Given the description of an element on the screen output the (x, y) to click on. 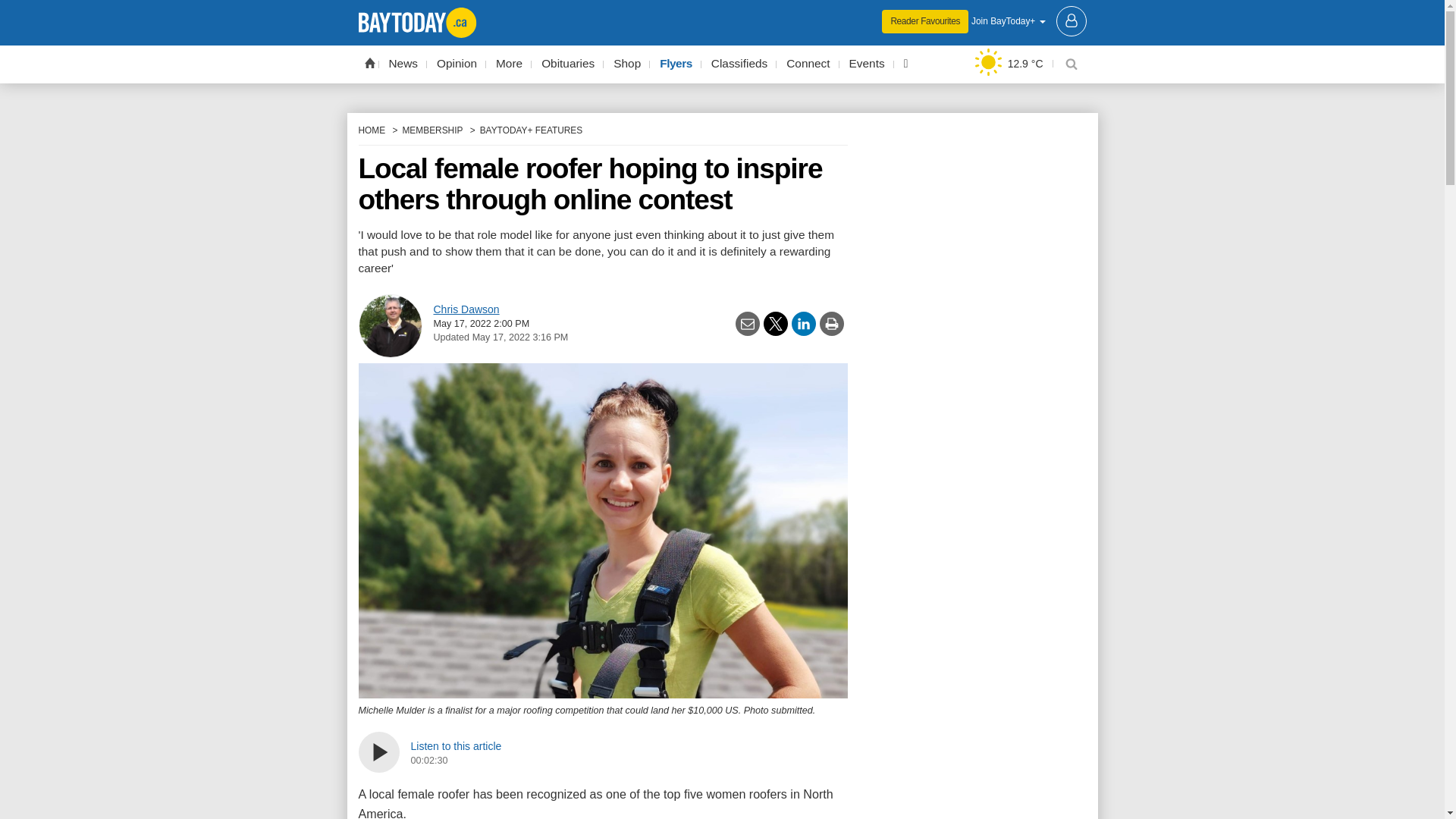
Reader Favourites (925, 21)
Home (368, 62)
3rd party ad content (972, 706)
3rd party ad content (722, 10)
News (403, 64)
